Given the description of an element on the screen output the (x, y) to click on. 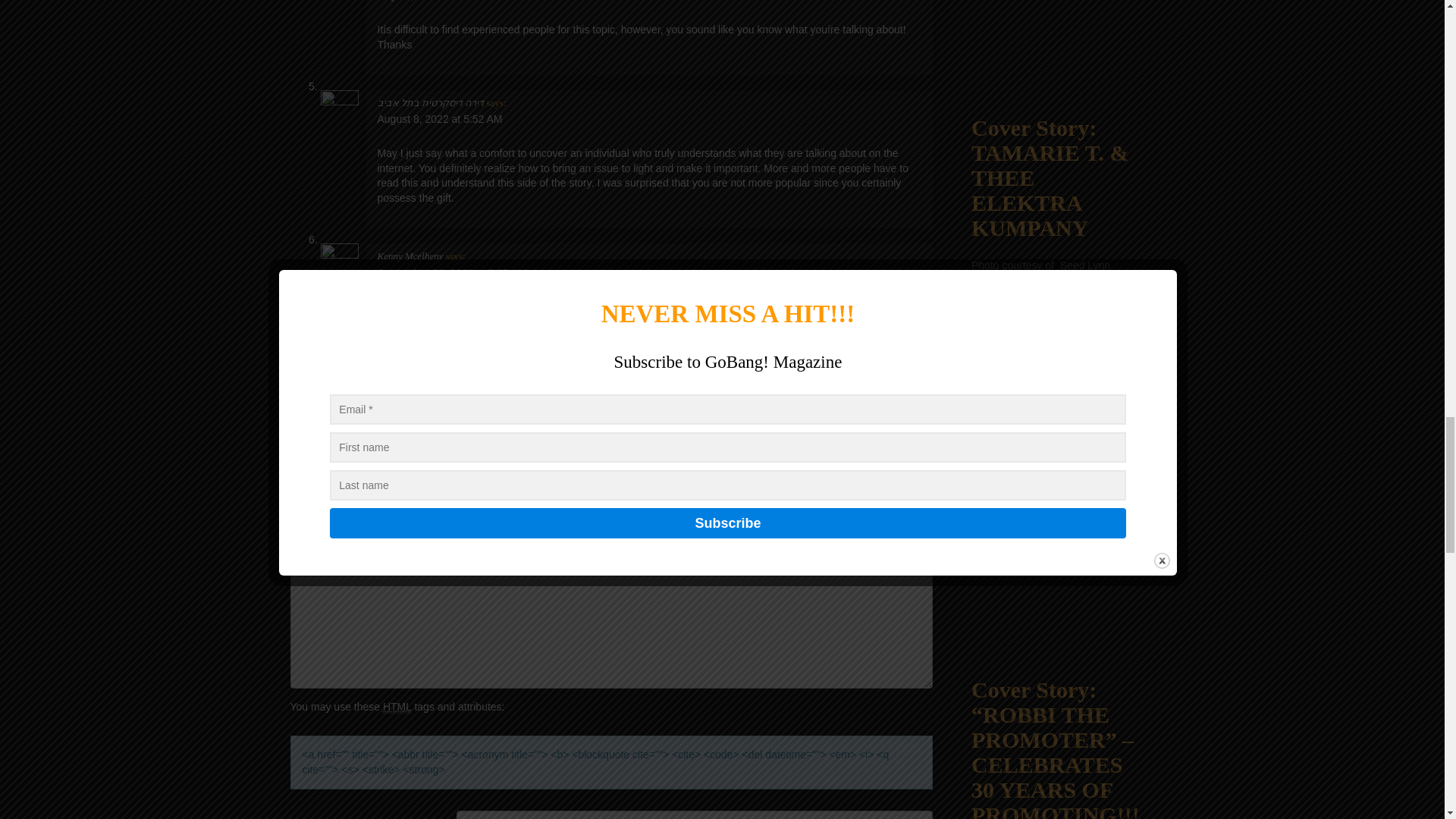
HyperText Markup Language (397, 707)
